Given the description of an element on the screen output the (x, y) to click on. 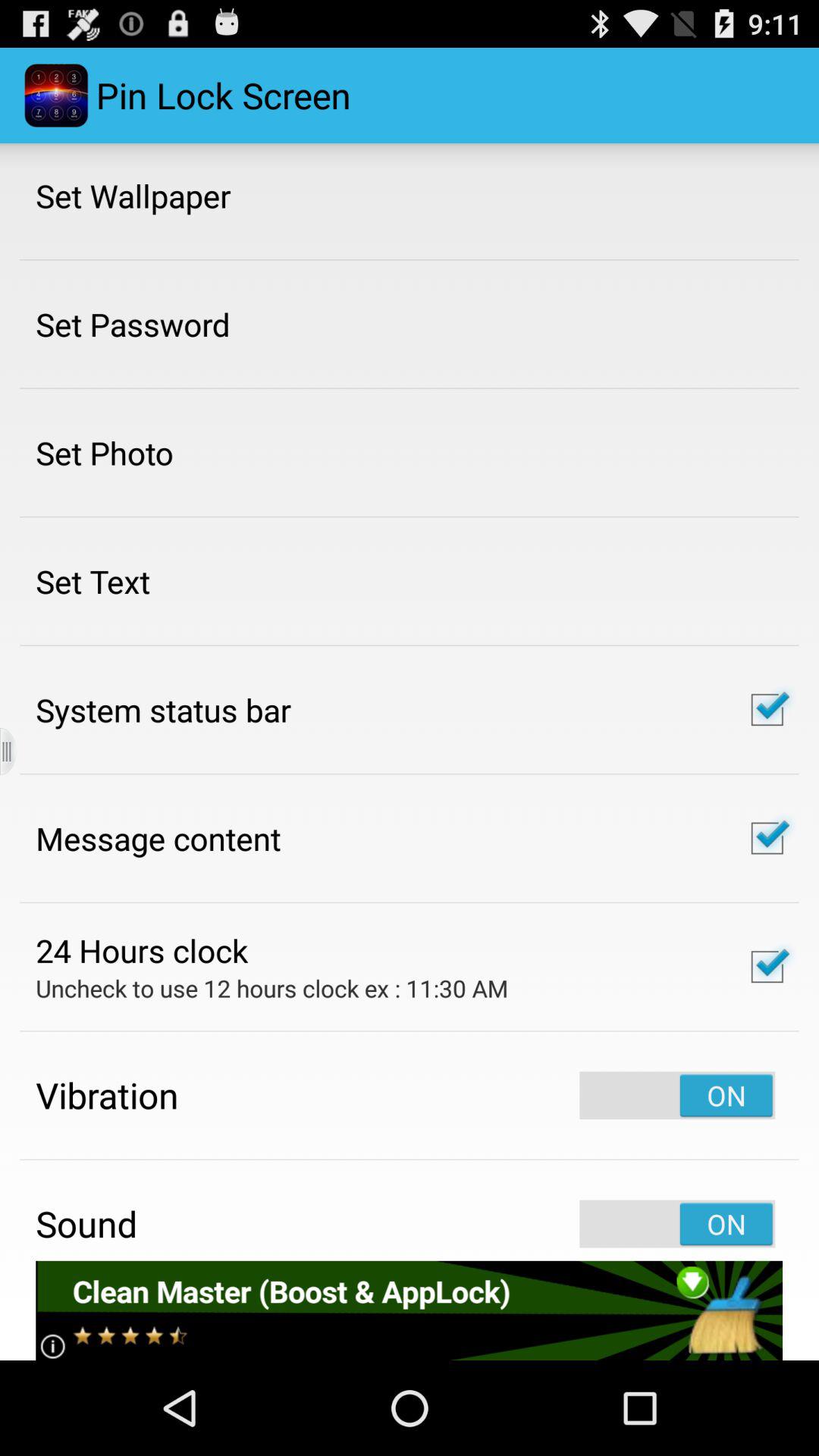
install app (408, 1310)
